Given the description of an element on the screen output the (x, y) to click on. 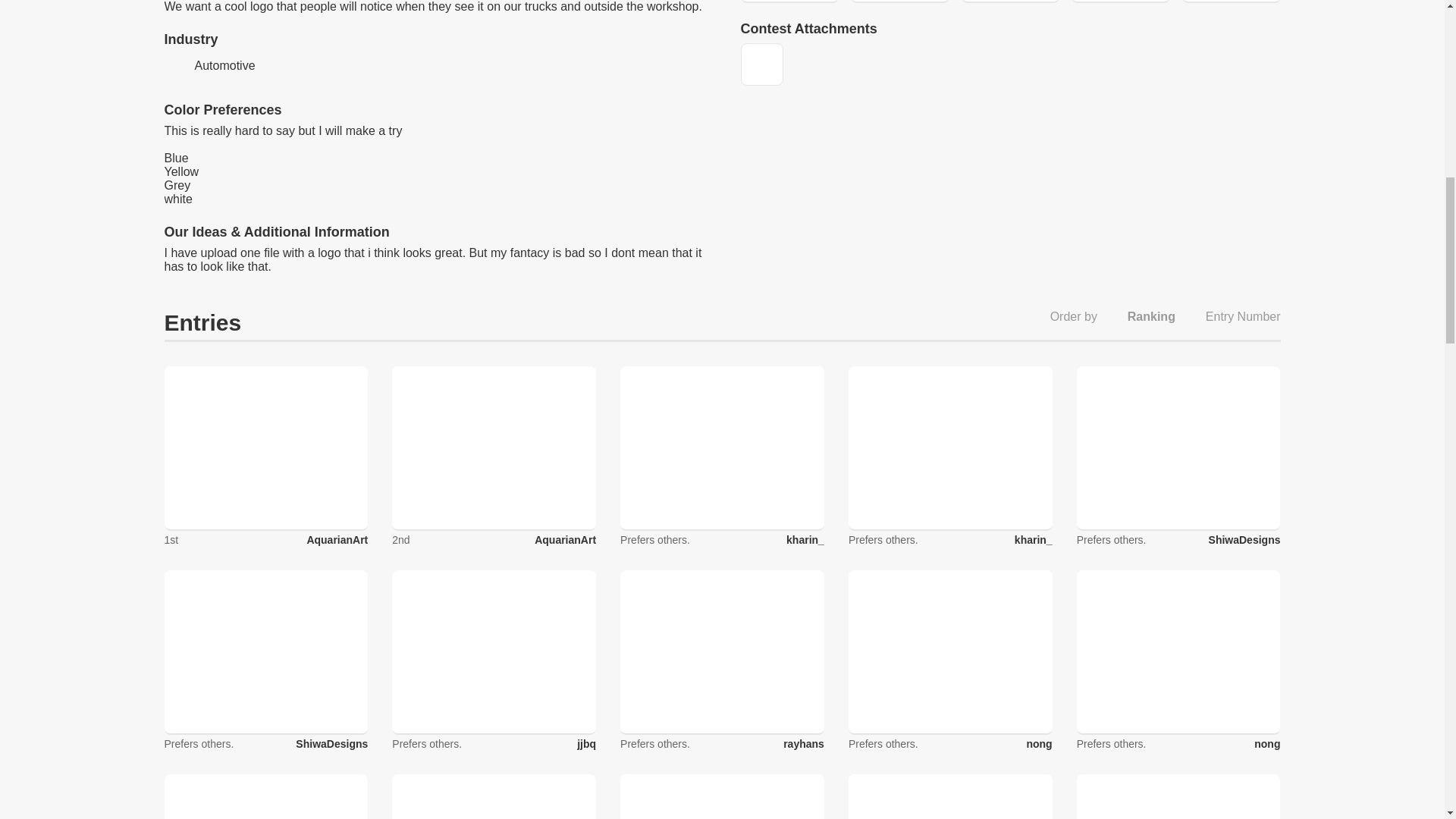
ShiwaDesigns (331, 743)
Attachment (762, 64)
nong (1038, 743)
ShiwaDesigns (1244, 539)
jjbq (585, 743)
AquarianArt (336, 539)
rayhans (803, 743)
AquarianArt (564, 539)
nong (1266, 743)
